Given the description of an element on the screen output the (x, y) to click on. 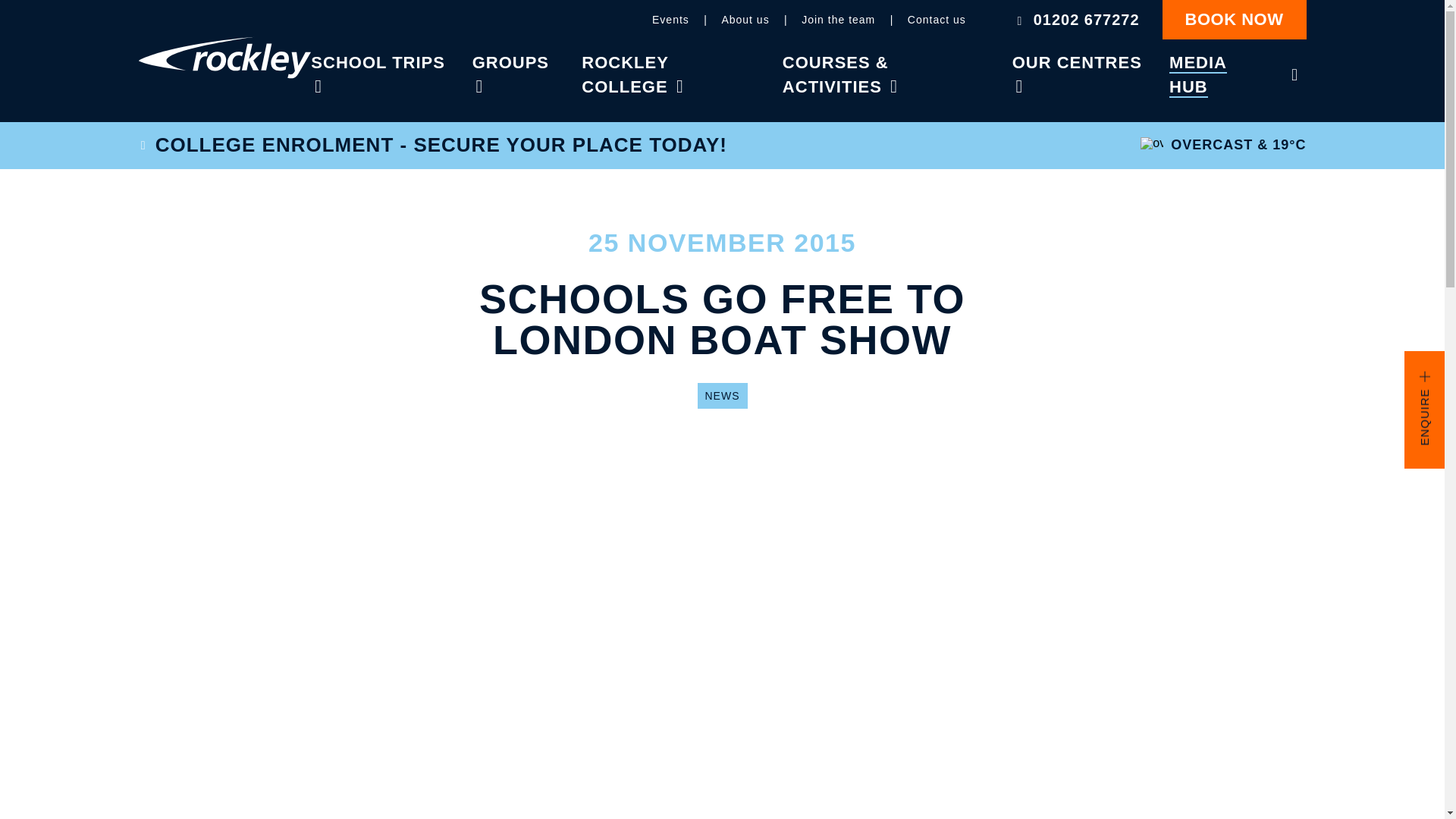
01202 677272 (1075, 23)
Contact us (936, 24)
About us (744, 24)
Events (670, 24)
GROUPS (509, 63)
BOOK NOW (1233, 19)
SCHOOL TRIPS (378, 63)
ROCKLEY COLLEGE (624, 75)
Join the team (838, 24)
